Given the description of an element on the screen output the (x, y) to click on. 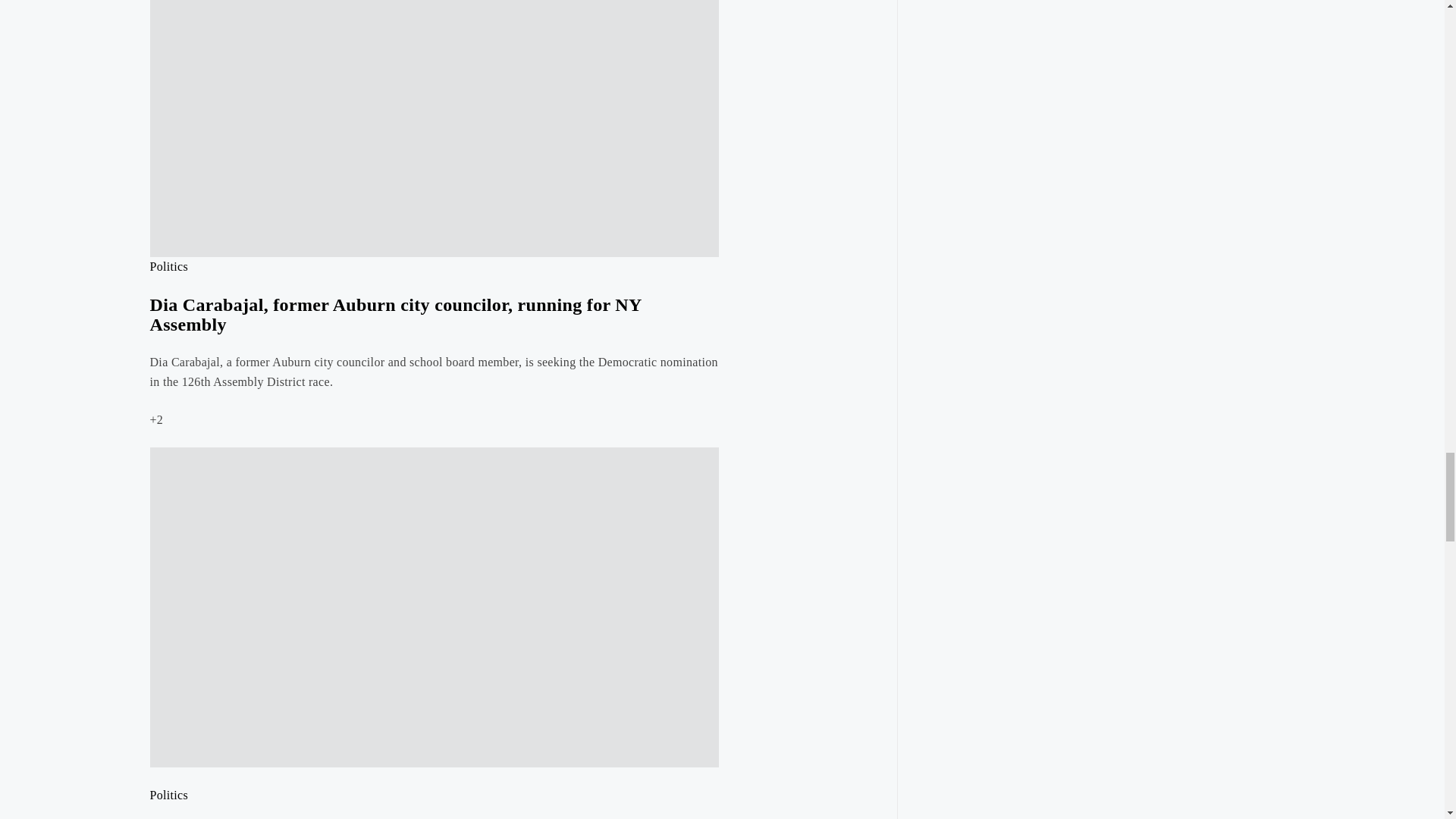
Politics (169, 266)
Politics (169, 794)
